Given the description of an element on the screen output the (x, y) to click on. 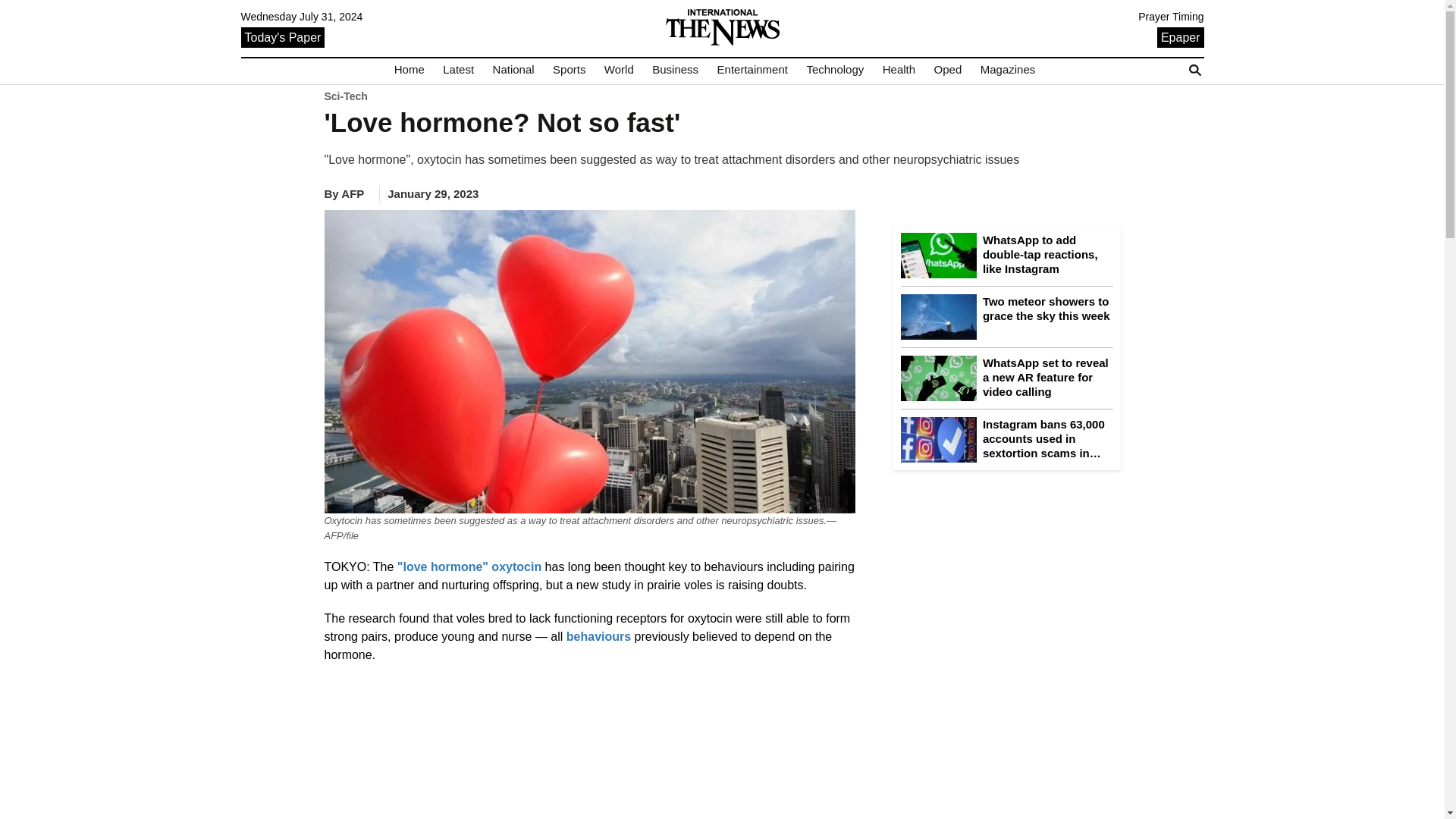
Sports (568, 69)
Latest (458, 69)
World (619, 69)
Business (675, 69)
Home (409, 69)
Today's Paper (282, 37)
Health (899, 69)
Prayer Timing (1171, 16)
Technology (833, 69)
Epaper (1180, 37)
National (512, 69)
Entertainment (752, 69)
